Given the description of an element on the screen output the (x, y) to click on. 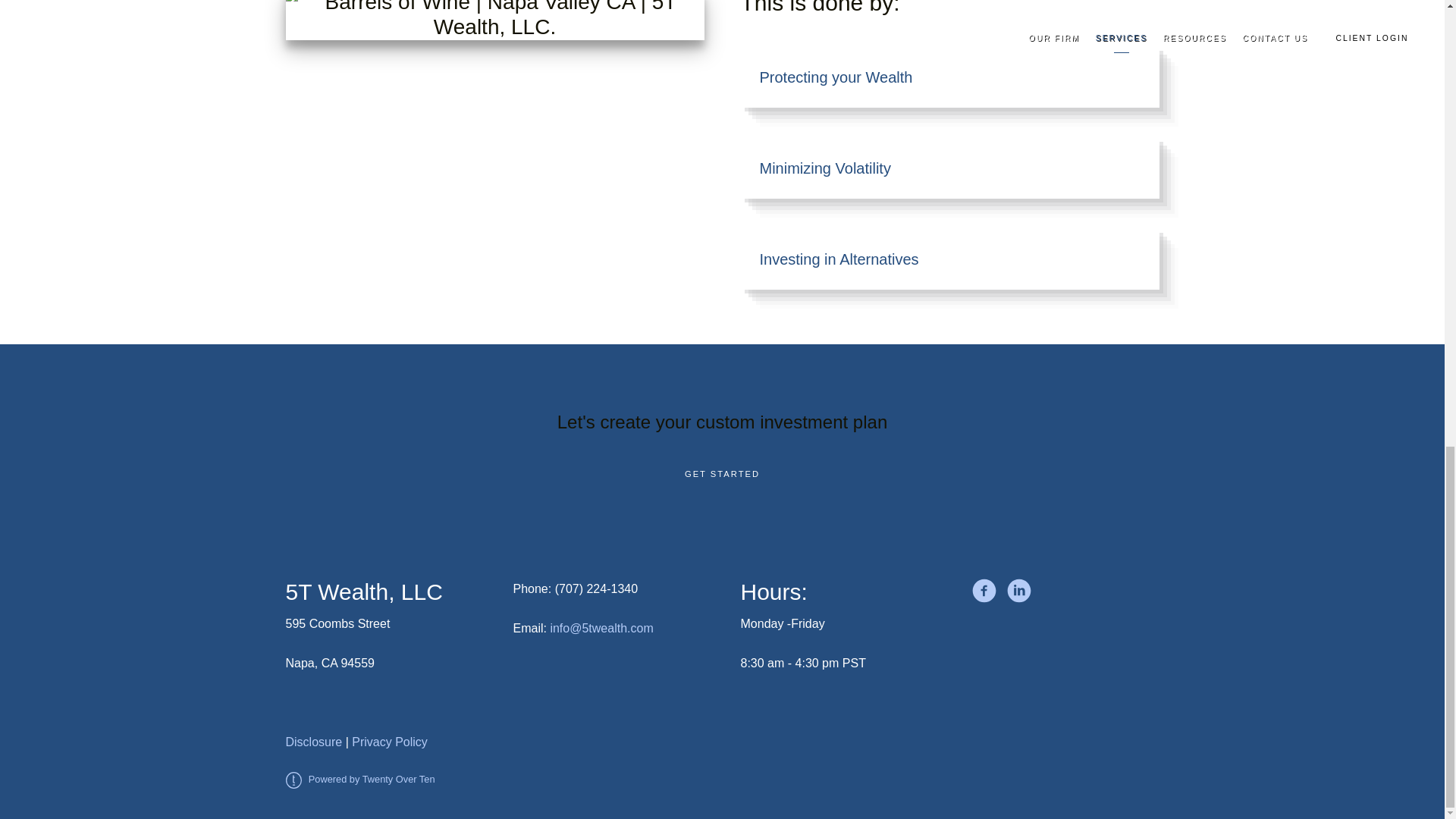
Protecting your Wealth (950, 77)
Powered by Twenty Over Ten (359, 778)
Investing in Alternatives (950, 259)
GET STARTED (721, 474)
Minimizing Volatility (950, 168)
Disclosure (313, 741)
Privacy Policy (390, 741)
